Given the description of an element on the screen output the (x, y) to click on. 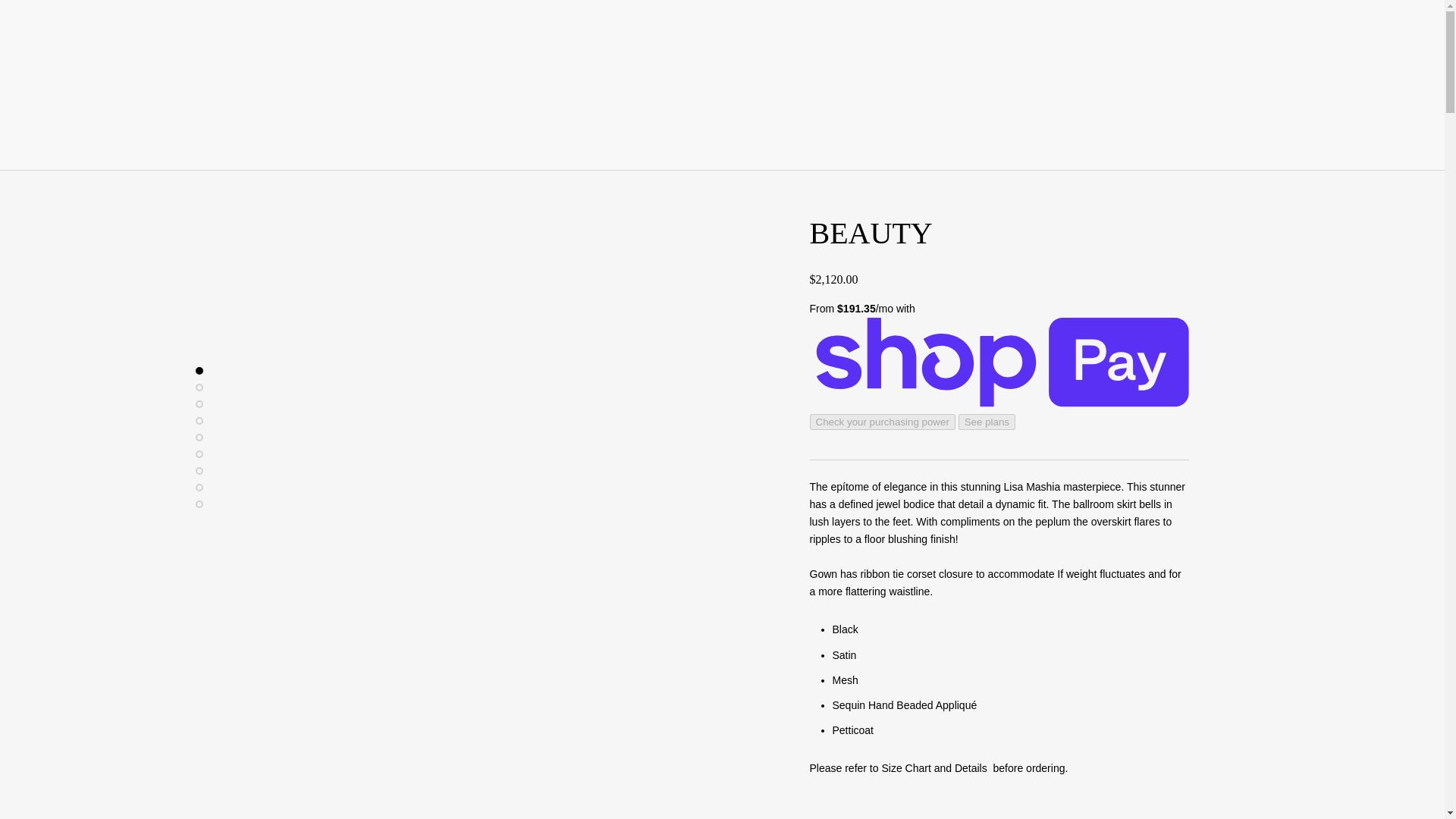
Beauty (999, 806)
